Given the description of an element on the screen output the (x, y) to click on. 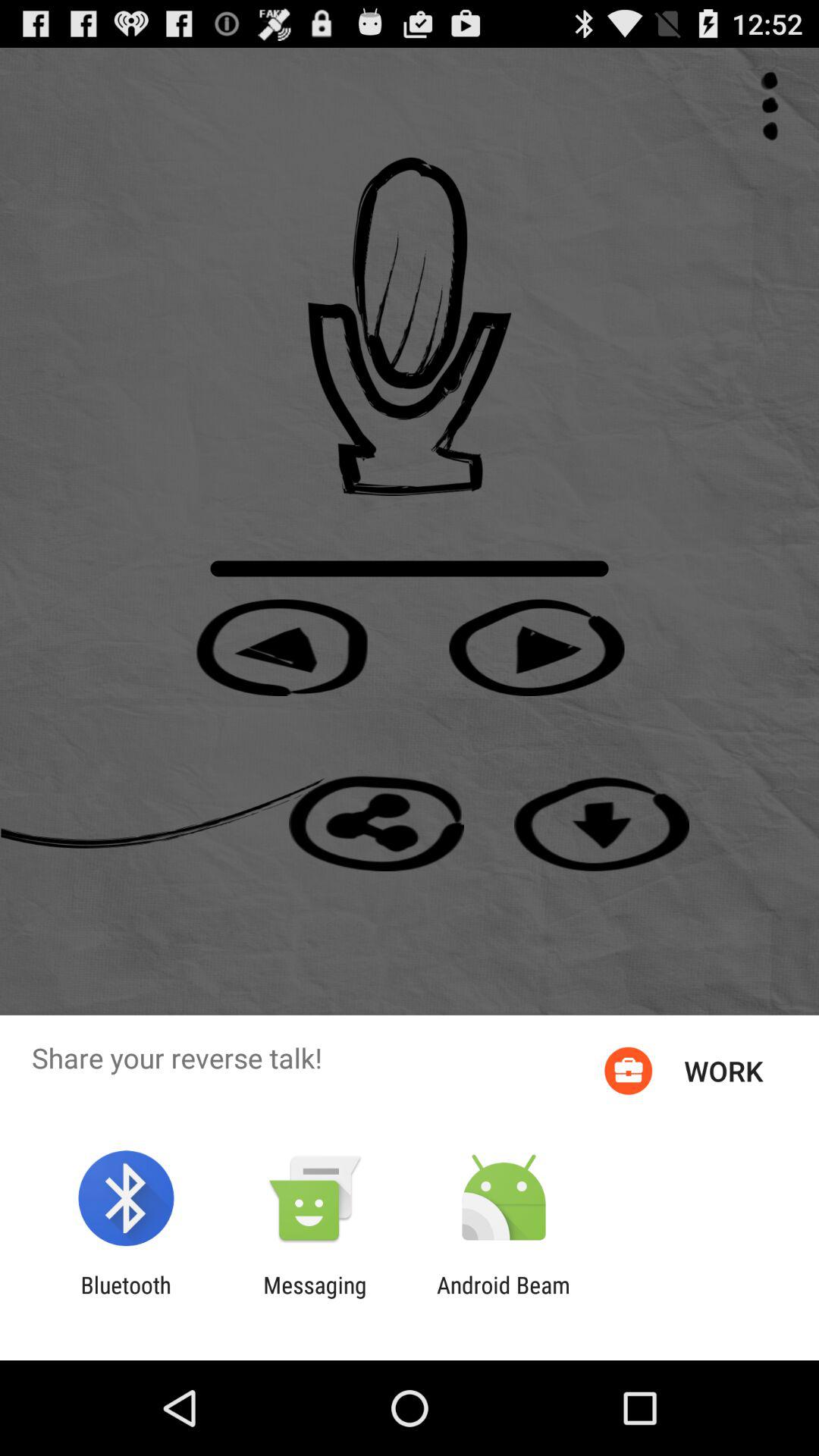
launch the android beam item (503, 1298)
